Given the description of an element on the screen output the (x, y) to click on. 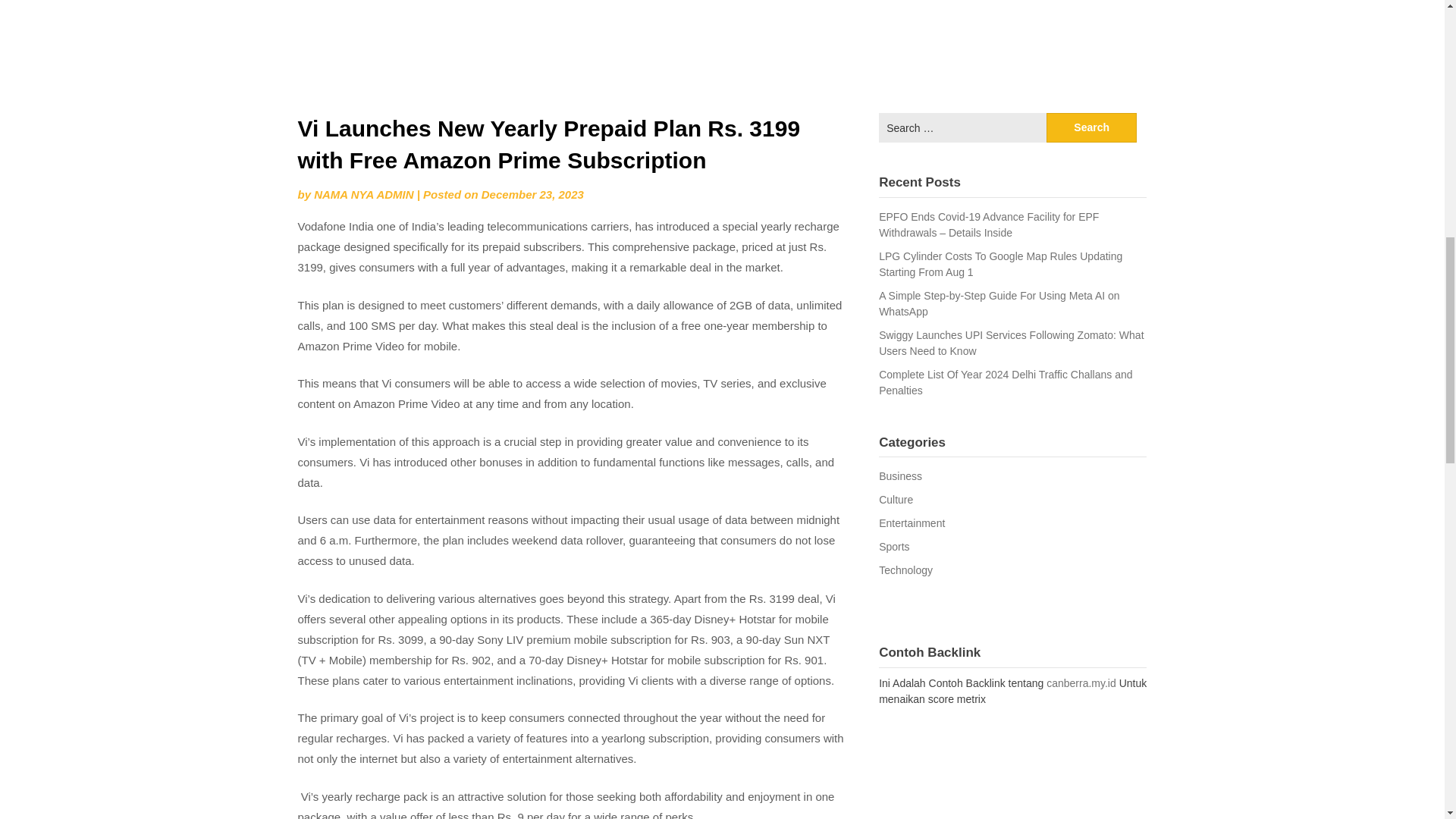
Search (1091, 127)
Search (1091, 127)
Search (1091, 127)
December 23, 2023 (532, 194)
NAMA NYA ADMIN (363, 194)
